Given the description of an element on the screen output the (x, y) to click on. 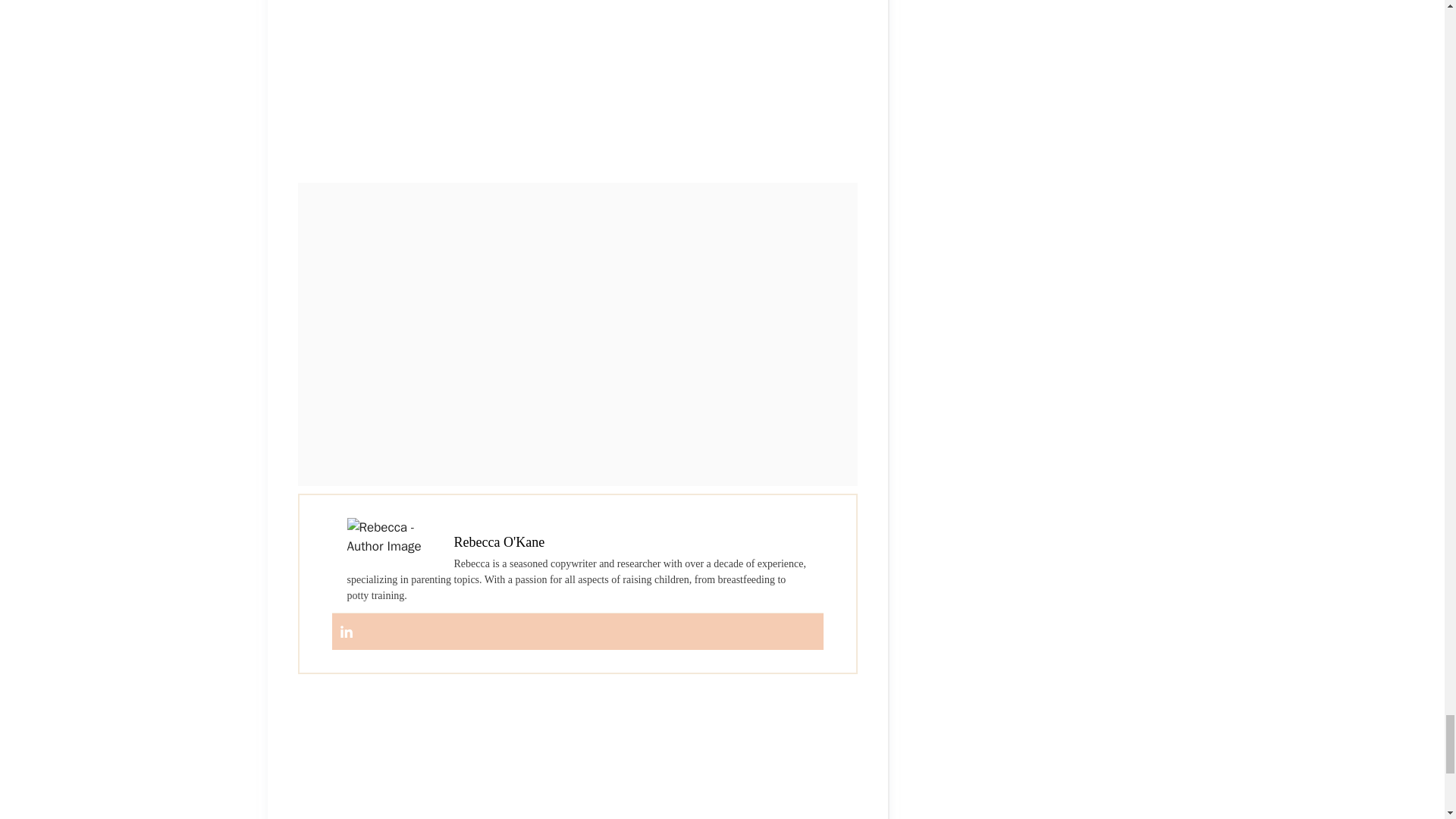
How long does my baby need a humidifier in his room? (577, 87)
Linkedin (346, 631)
